Given the description of an element on the screen output the (x, y) to click on. 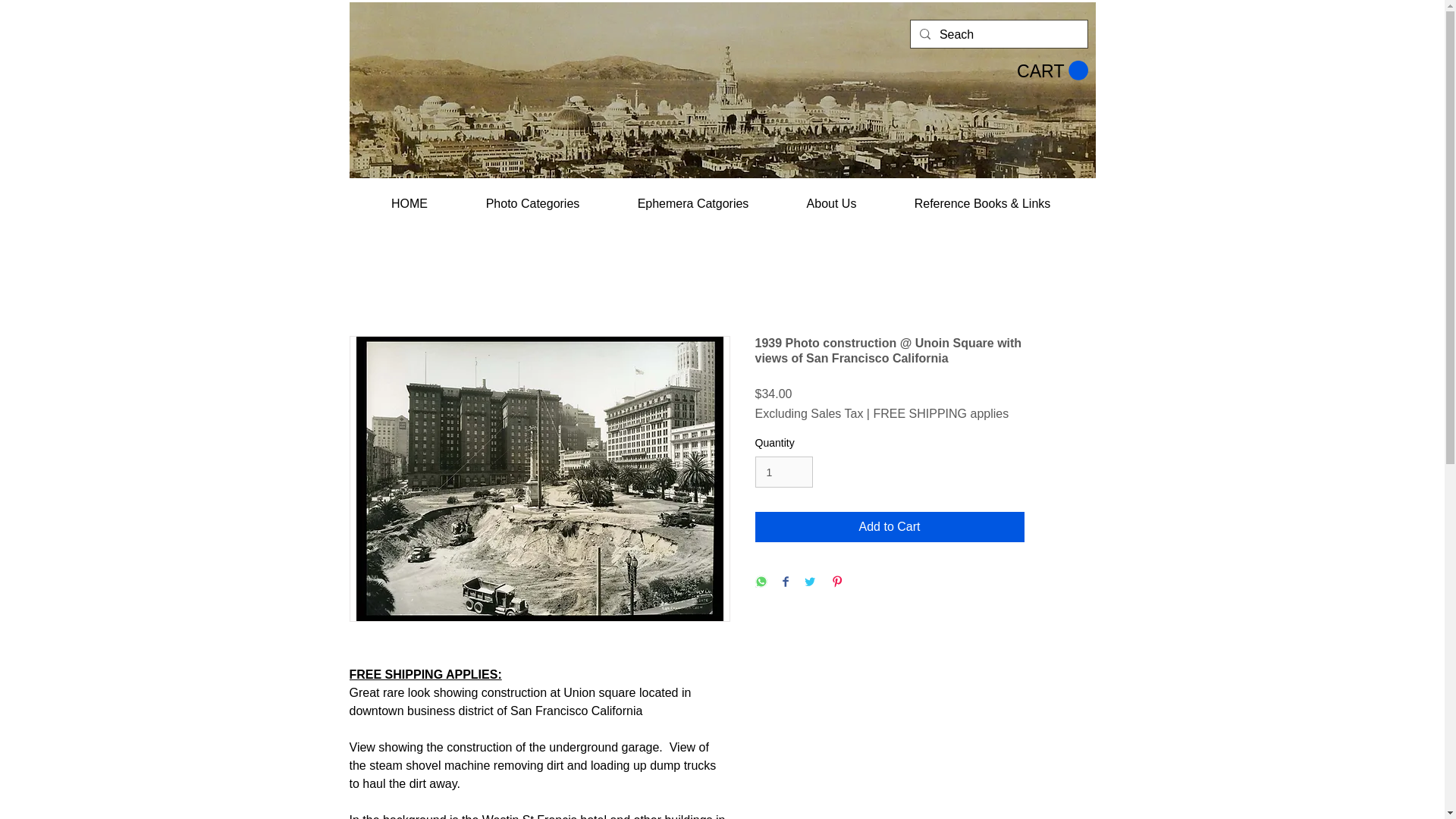
About Us (831, 197)
CART (1051, 70)
CART (1051, 70)
1 (783, 471)
HOME (409, 197)
Ephemera Catgories (692, 197)
FREE SHIPPING applies (940, 413)
Photo Categories (532, 197)
Add to Cart (890, 526)
